Given the description of an element on the screen output the (x, y) to click on. 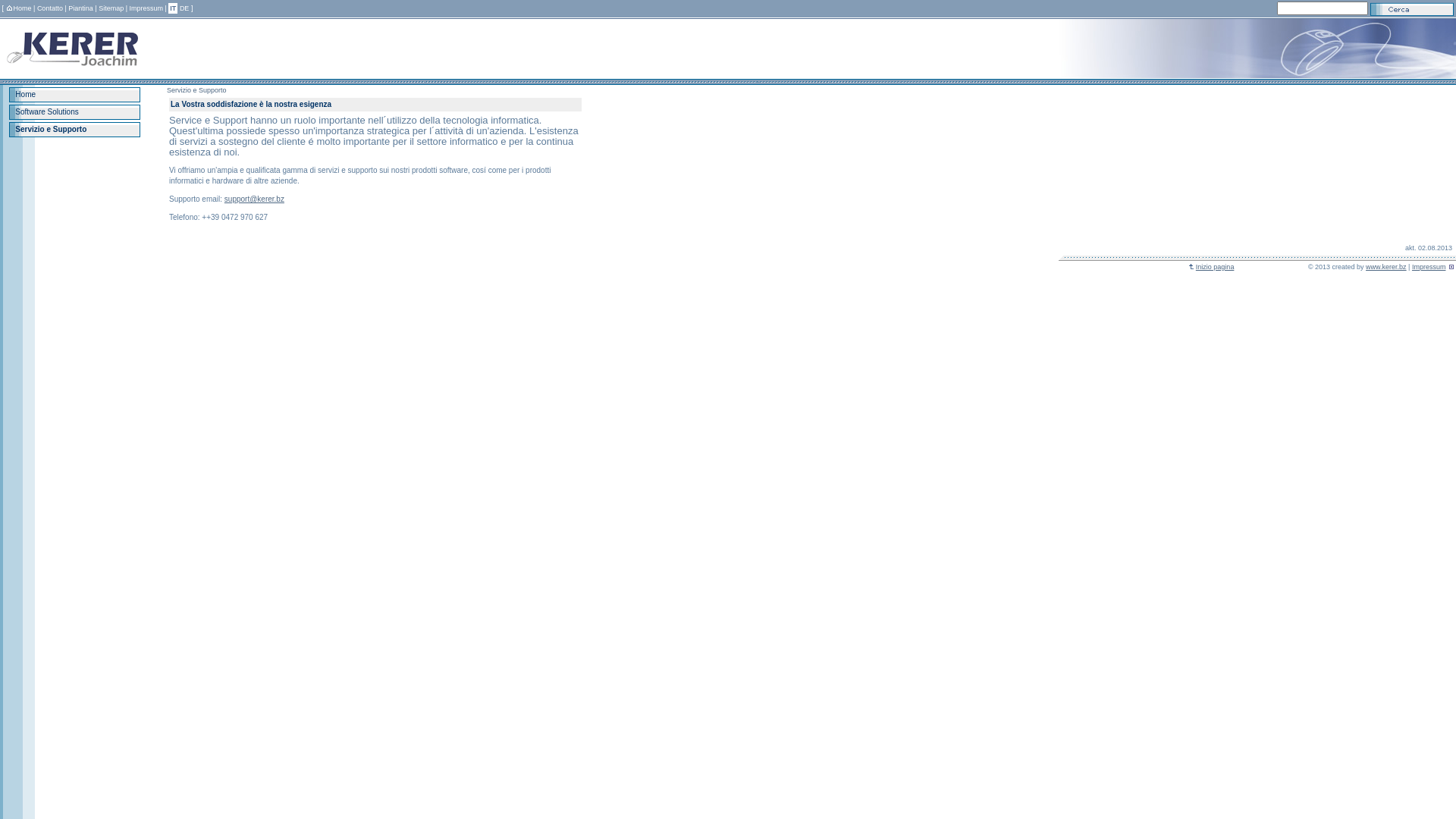
   Servizio e Supporto Element type: text (74, 129)
Servizio e Supporto Element type: text (50, 129)
   Software Solutions Element type: text (74, 111)
www.kerer.bz Element type: text (1385, 266)
Inizio pagina Element type: text (1211, 266)
Impressum Element type: text (145, 8)
Piantina Element type: text (80, 8)
DE Element type: text (184, 8)
   Home Element type: text (74, 94)
Home Element type: text (18, 8)
Software Solutions Element type: text (46, 111)
Home Element type: text (25, 94)
Servizio e Supporto Element type: text (196, 90)
Sitemap Element type: text (110, 8)
Impressum Element type: text (1429, 266)
Contatto Element type: text (49, 8)
support@kerer.bz Element type: text (254, 198)
